Given the description of an element on the screen output the (x, y) to click on. 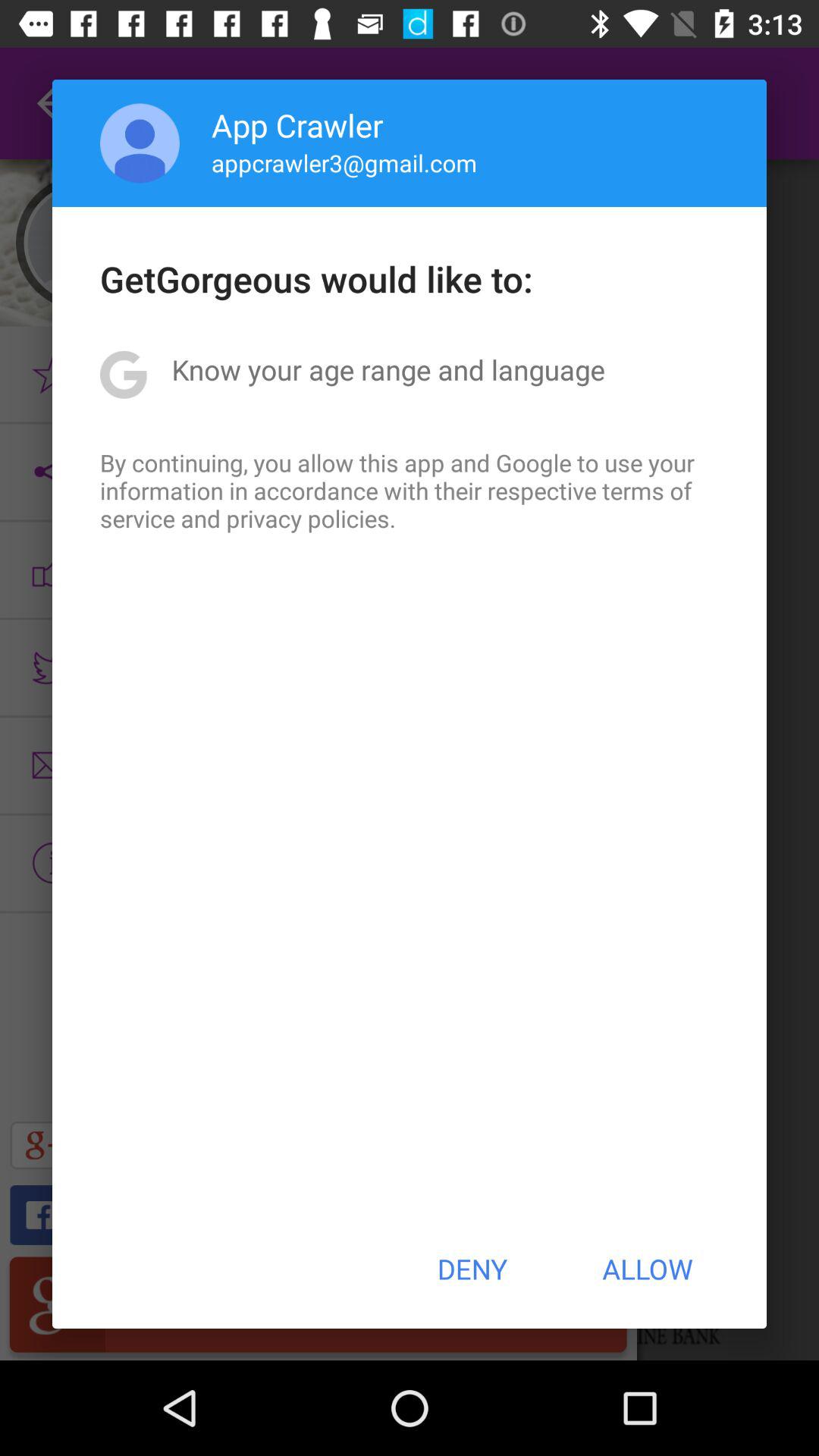
launch the item to the left of allow item (471, 1268)
